Given the description of an element on the screen output the (x, y) to click on. 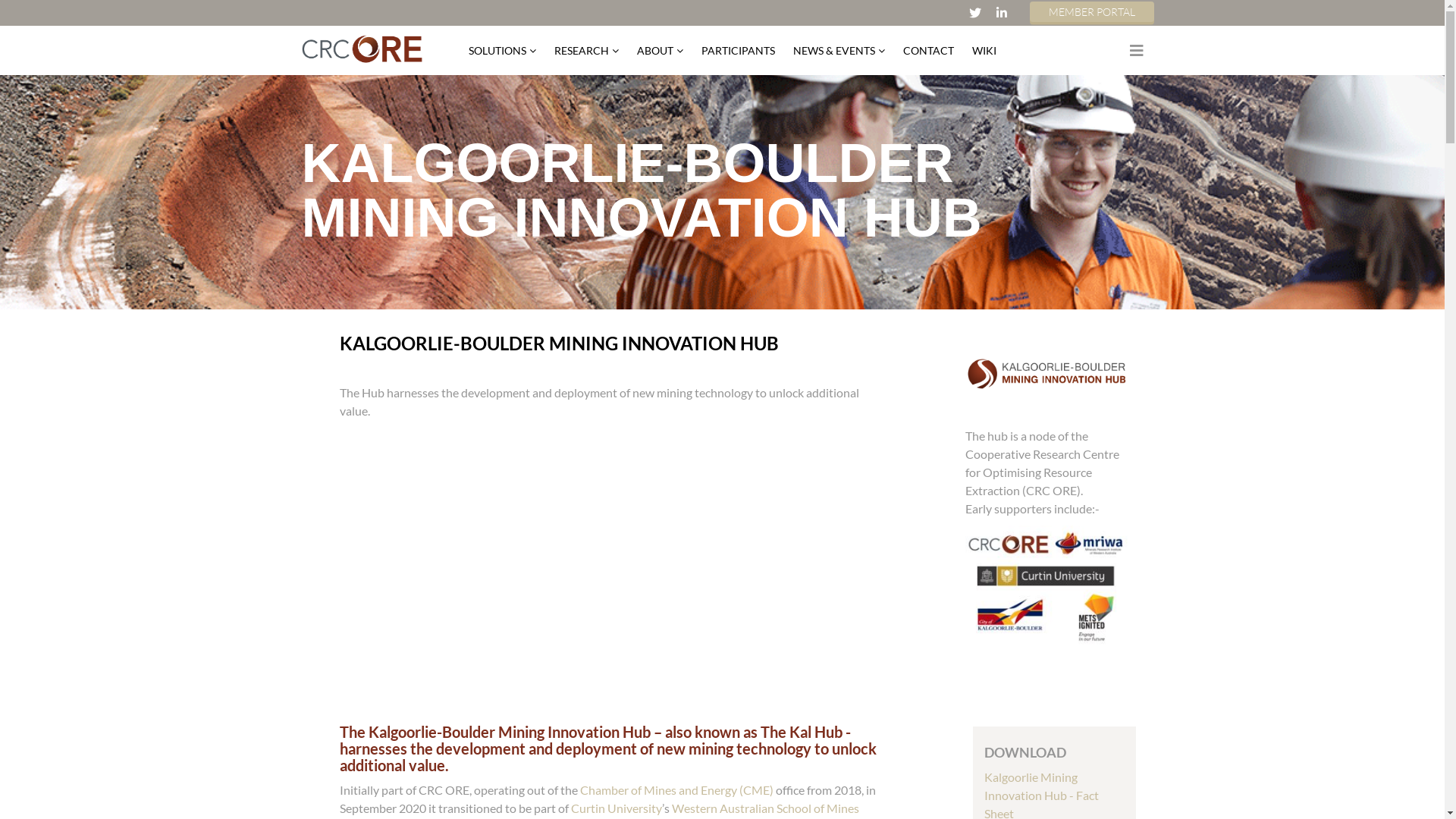
YouTube video player Element type: hover (584, 570)
ABOUT Element type: text (659, 50)
RESEARCH Element type: text (585, 50)
CONTACT Element type: text (927, 50)
Chamber of Mines and Energy (CME) Element type: text (675, 789)
Curtin University Element type: text (615, 807)
NEWS & EVENTS Element type: text (839, 50)
PARTICIPANTS Element type: text (737, 50)
MEMBER PORTAL Element type: text (1091, 11)
WIKI Element type: text (984, 50)
SOLUTIONS Element type: text (506, 50)
